Given the description of an element on the screen output the (x, y) to click on. 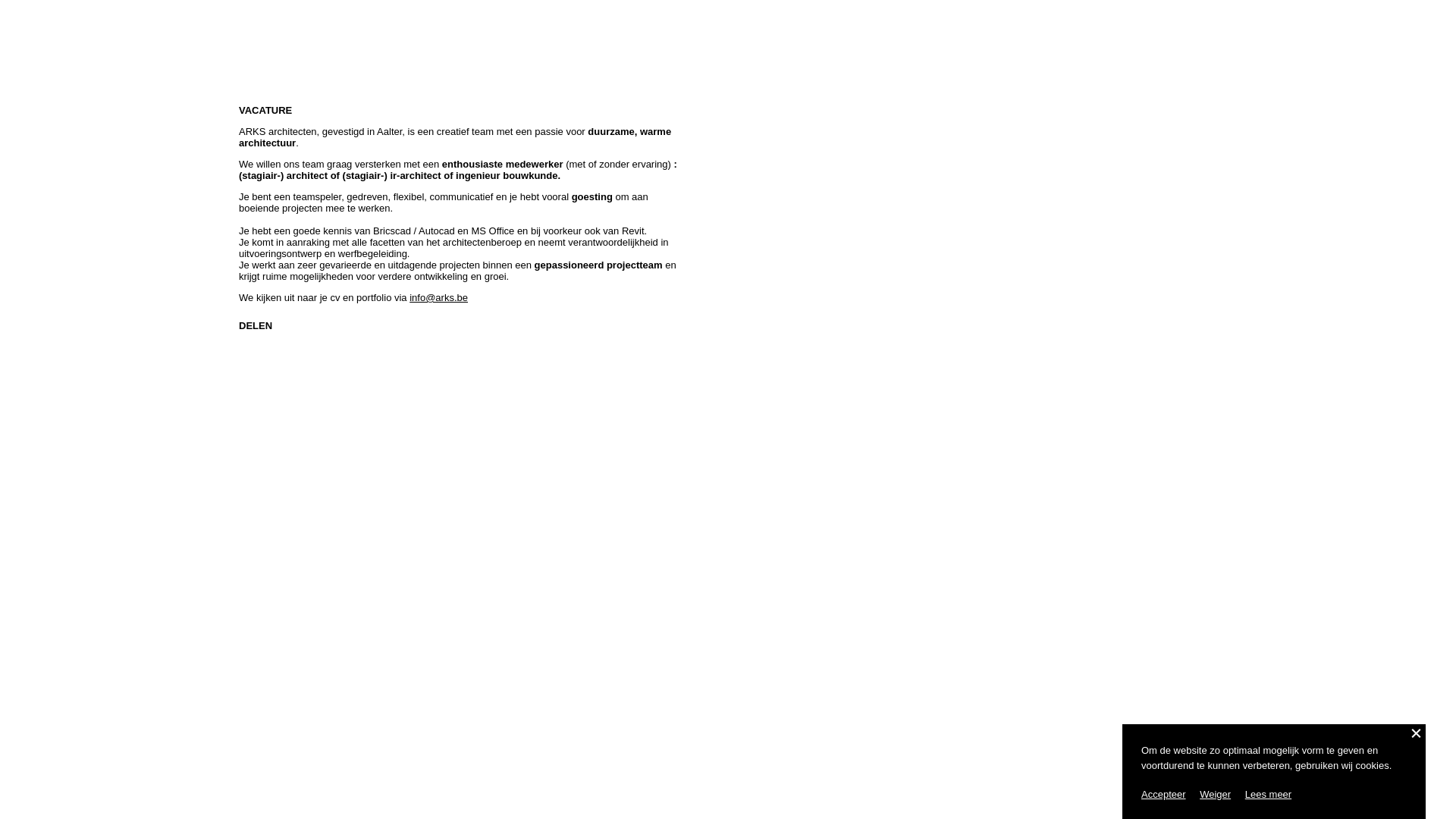
Lees meer Element type: text (1268, 794)
Weiger Element type: text (1214, 794)
info@arks.be Element type: text (438, 297)
Accepteer Element type: text (1163, 794)
